Given the description of an element on the screen output the (x, y) to click on. 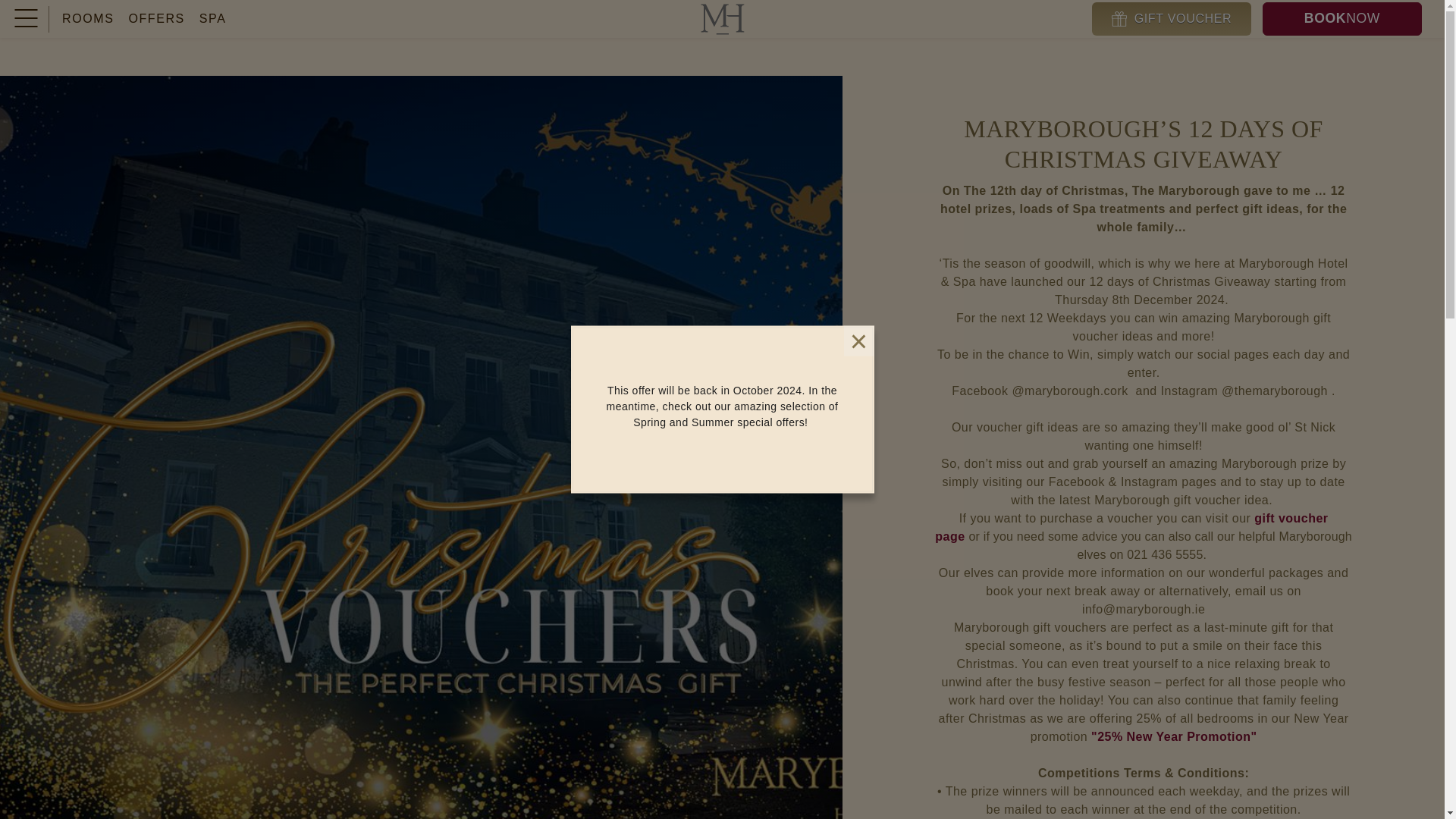
GIFT VOUCHER (1171, 19)
SPA (212, 18)
ROOMS (87, 18)
OFFERS (1342, 19)
